Given the description of an element on the screen output the (x, y) to click on. 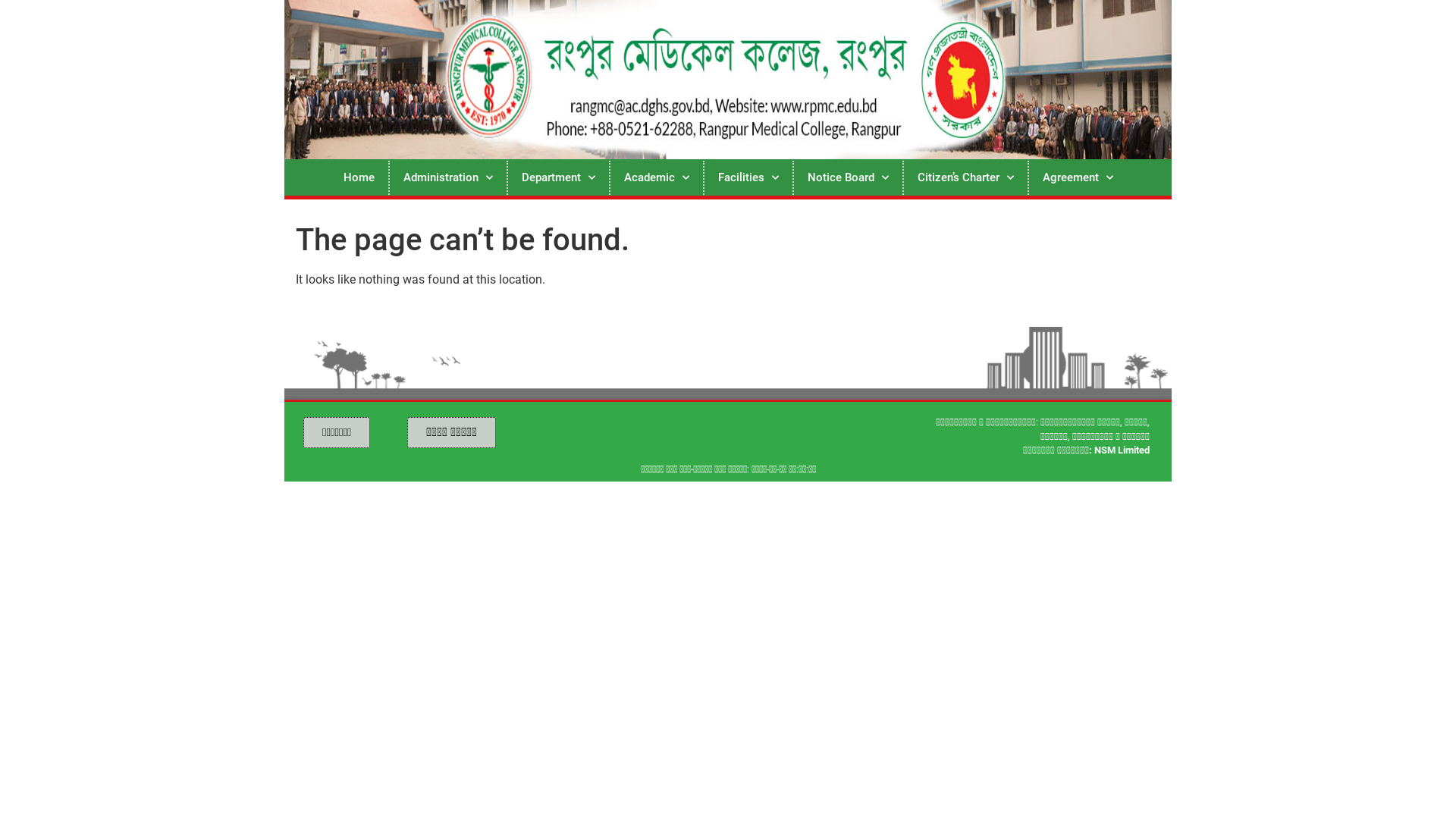
Home Element type: text (358, 177)
Agreement Element type: text (1077, 177)
Department Element type: text (558, 177)
Facilities Element type: text (747, 177)
Academic Element type: text (655, 177)
Notice Board Element type: text (847, 177)
Administration Element type: text (447, 177)
